Given the description of an element on the screen output the (x, y) to click on. 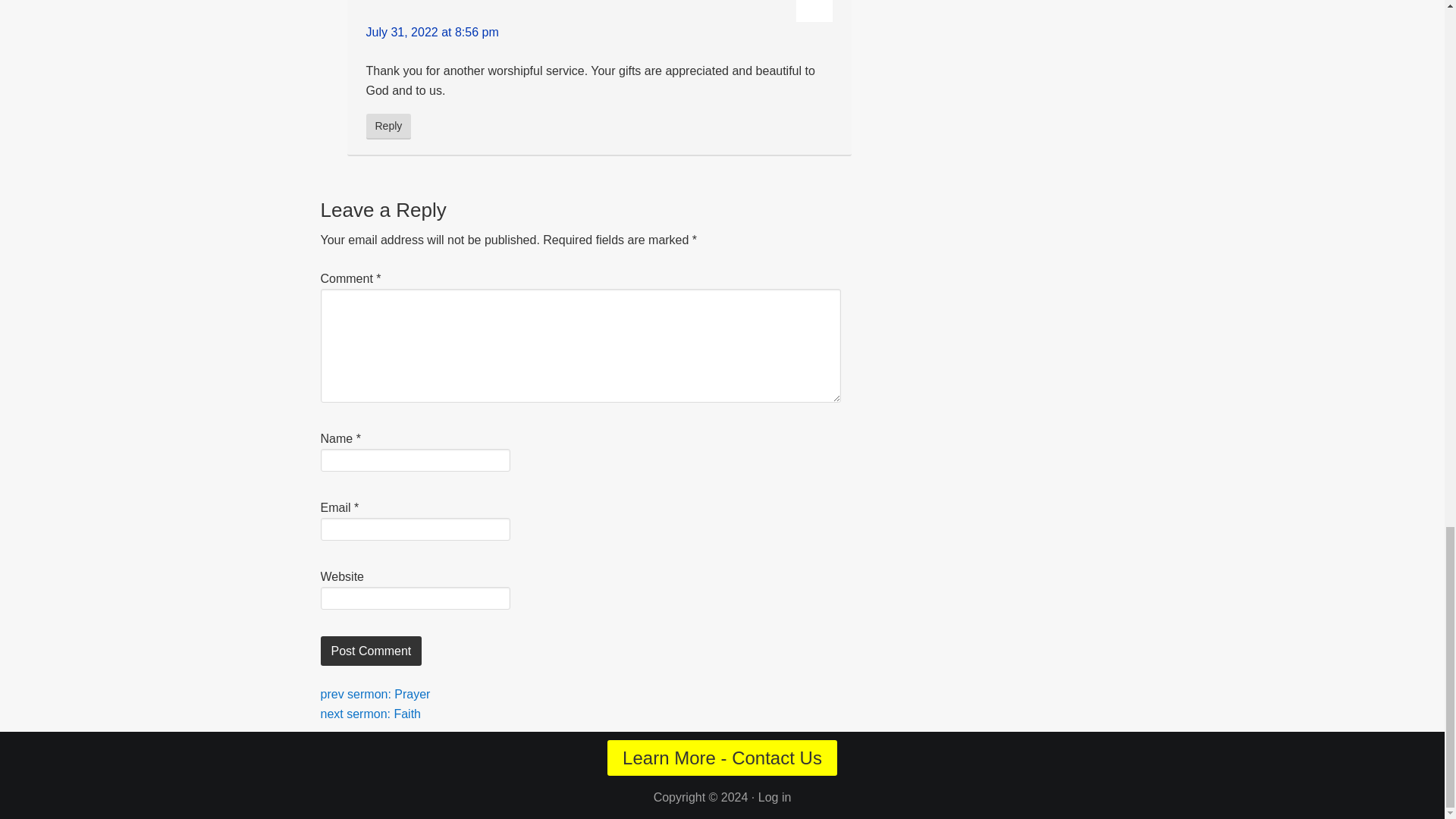
Post Comment (371, 650)
